Given the description of an element on the screen output the (x, y) to click on. 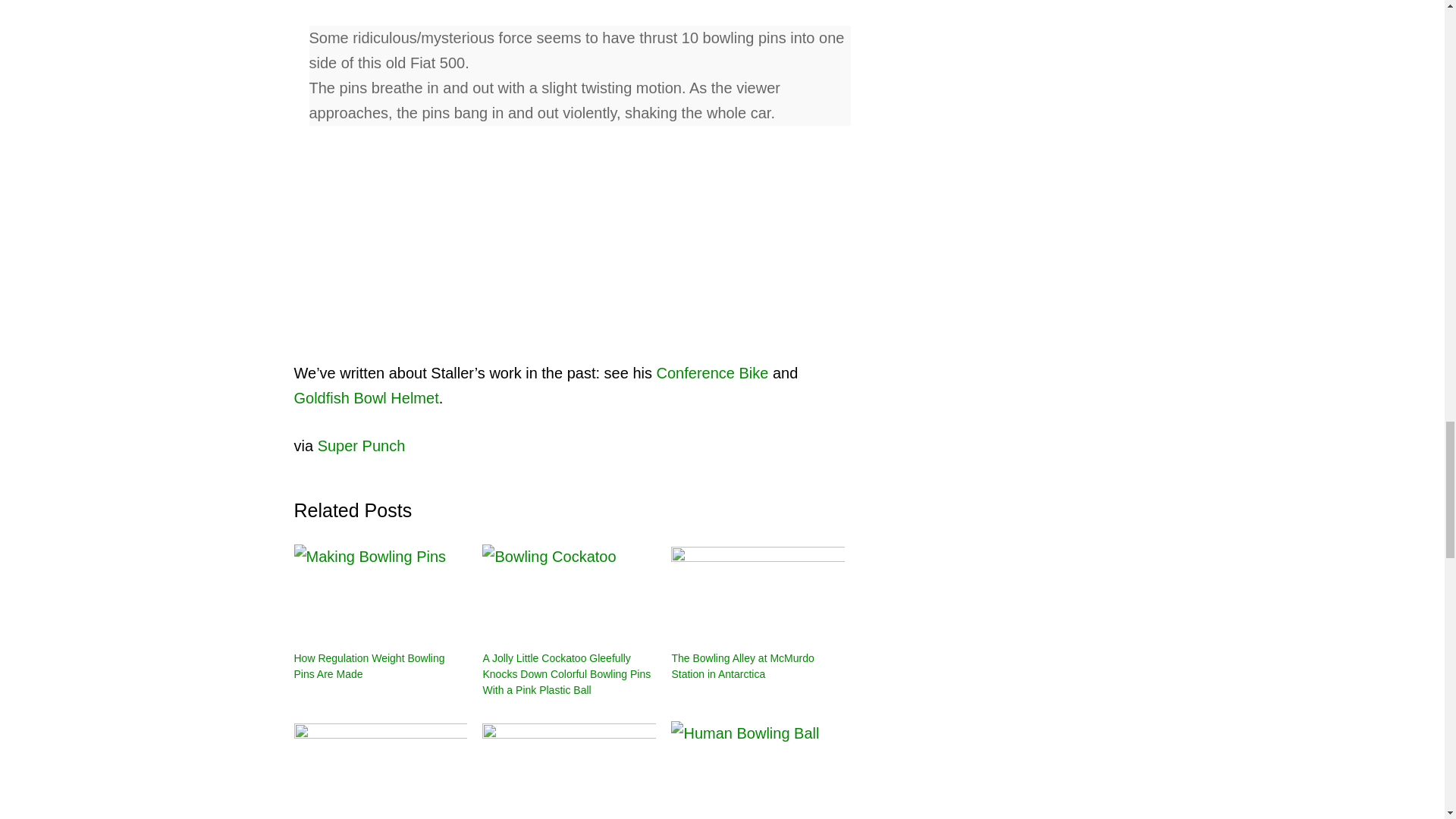
Conference Bike (712, 372)
How Regulation Weight Bowling Pins Are Made (380, 593)
How Regulation Weight Bowling Pins Are Made (369, 665)
The Bowling Alley at McMurdo Station in Antarctica (757, 593)
Goldfish Bowl Helmet (366, 397)
The Bowling Alley at McMurdo Station in Antarctica (742, 665)
